Given the description of an element on the screen output the (x, y) to click on. 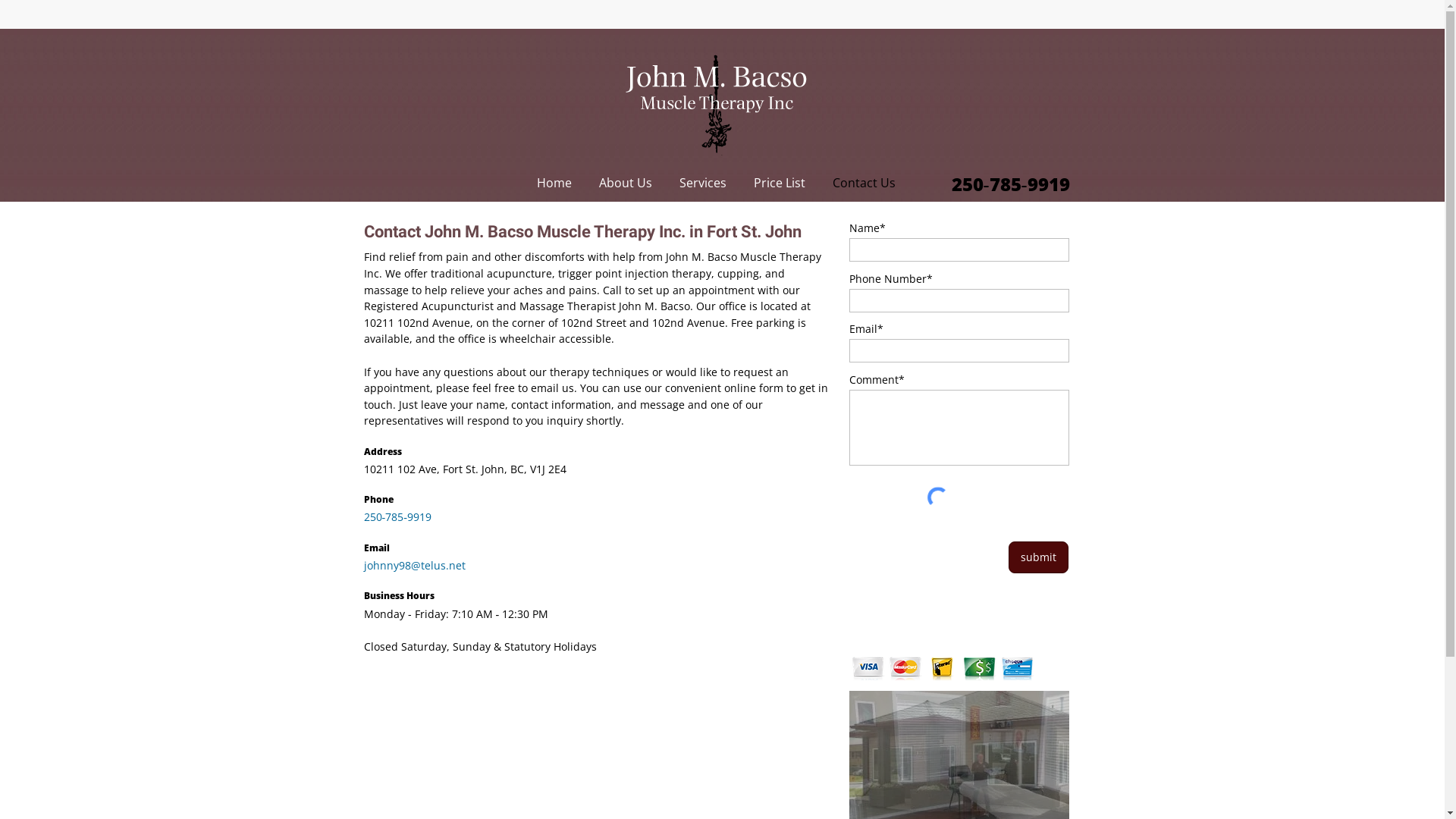
Contact Us Element type: text (864, 183)
Services Element type: text (702, 183)
Price List Element type: text (779, 183)
About Us Element type: text (625, 183)
Embedded Content Element type: hover (921, 13)
submit Element type: text (1038, 557)
Embedded Content Element type: hover (1063, 19)
Home Element type: text (554, 183)
johnny98@telus.net Element type: text (414, 565)
